Given the description of an element on the screen output the (x, y) to click on. 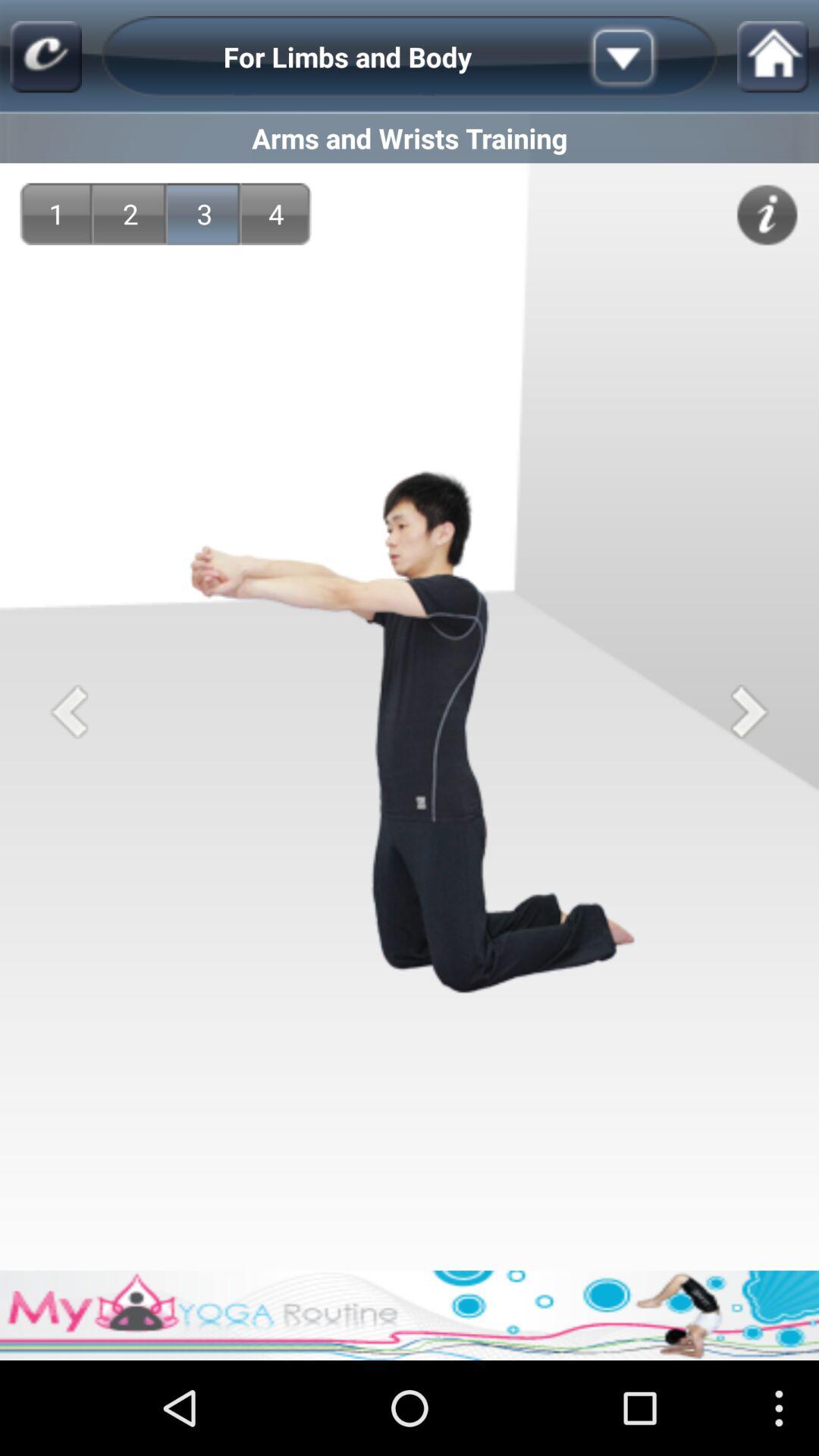
open advertisement (409, 1315)
